Given the description of an element on the screen output the (x, y) to click on. 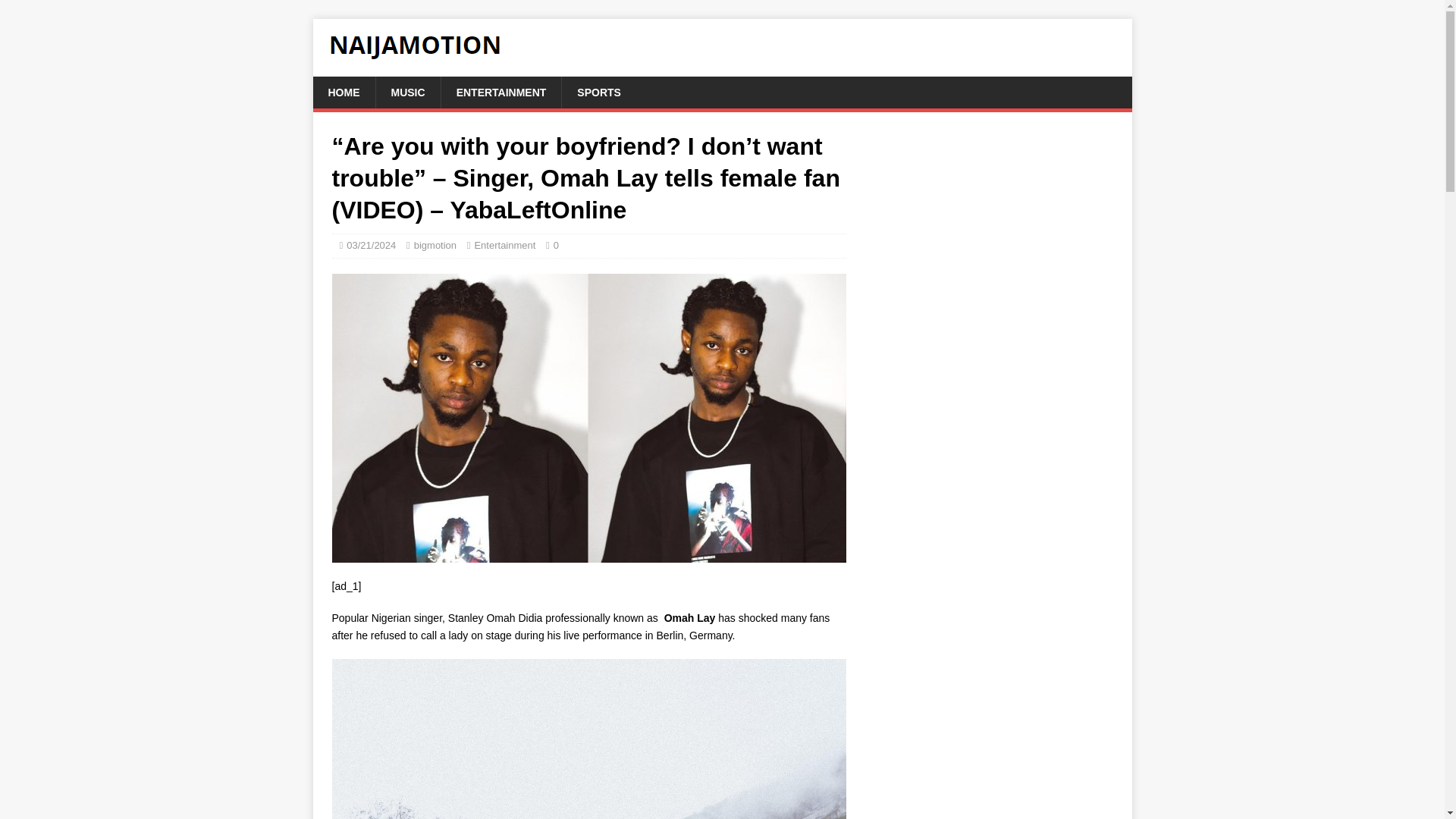
HOME (343, 92)
ENTERTAINMENT (501, 92)
bigmotion (435, 244)
MUSIC (406, 92)
Entertainment (504, 244)
SPORTS (598, 92)
